Given the description of an element on the screen output the (x, y) to click on. 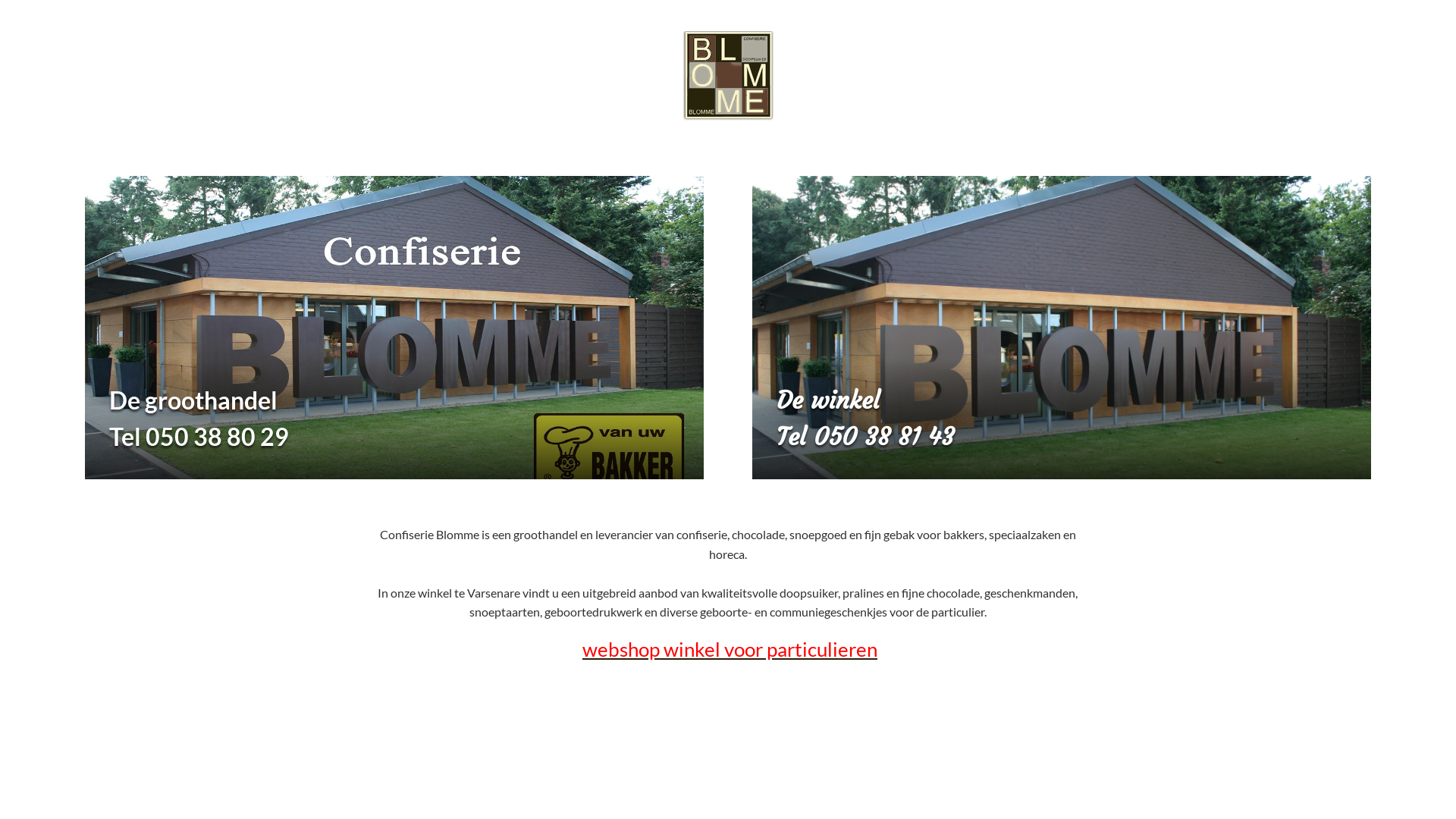
webshop winkel voor particulieren Element type: text (729, 649)
Winkel Element type: hover (1061, 327)
Groothandel Element type: hover (394, 327)
